Given the description of an element on the screen output the (x, y) to click on. 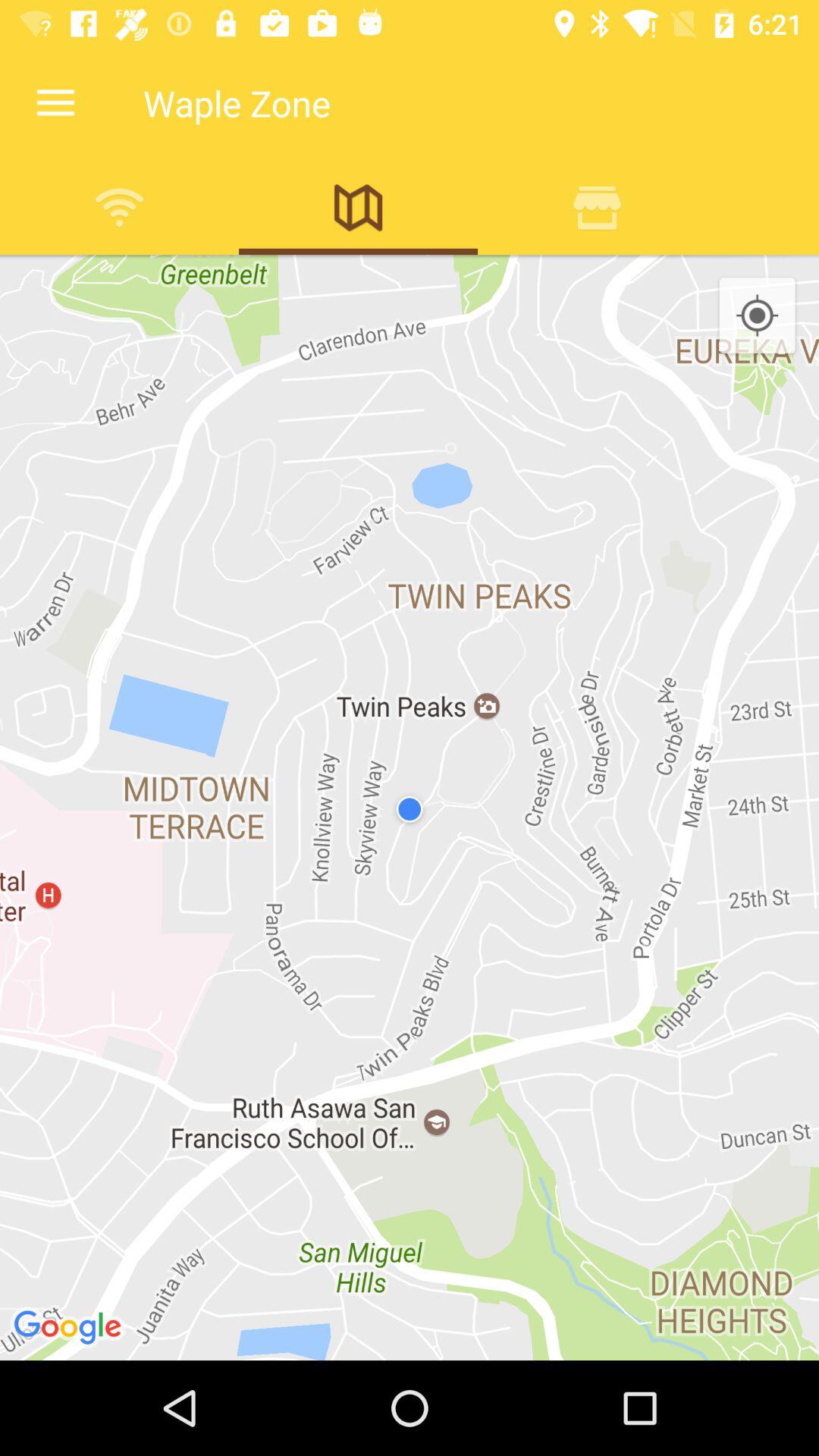
change view mode (357, 206)
